Given the description of an element on the screen output the (x, y) to click on. 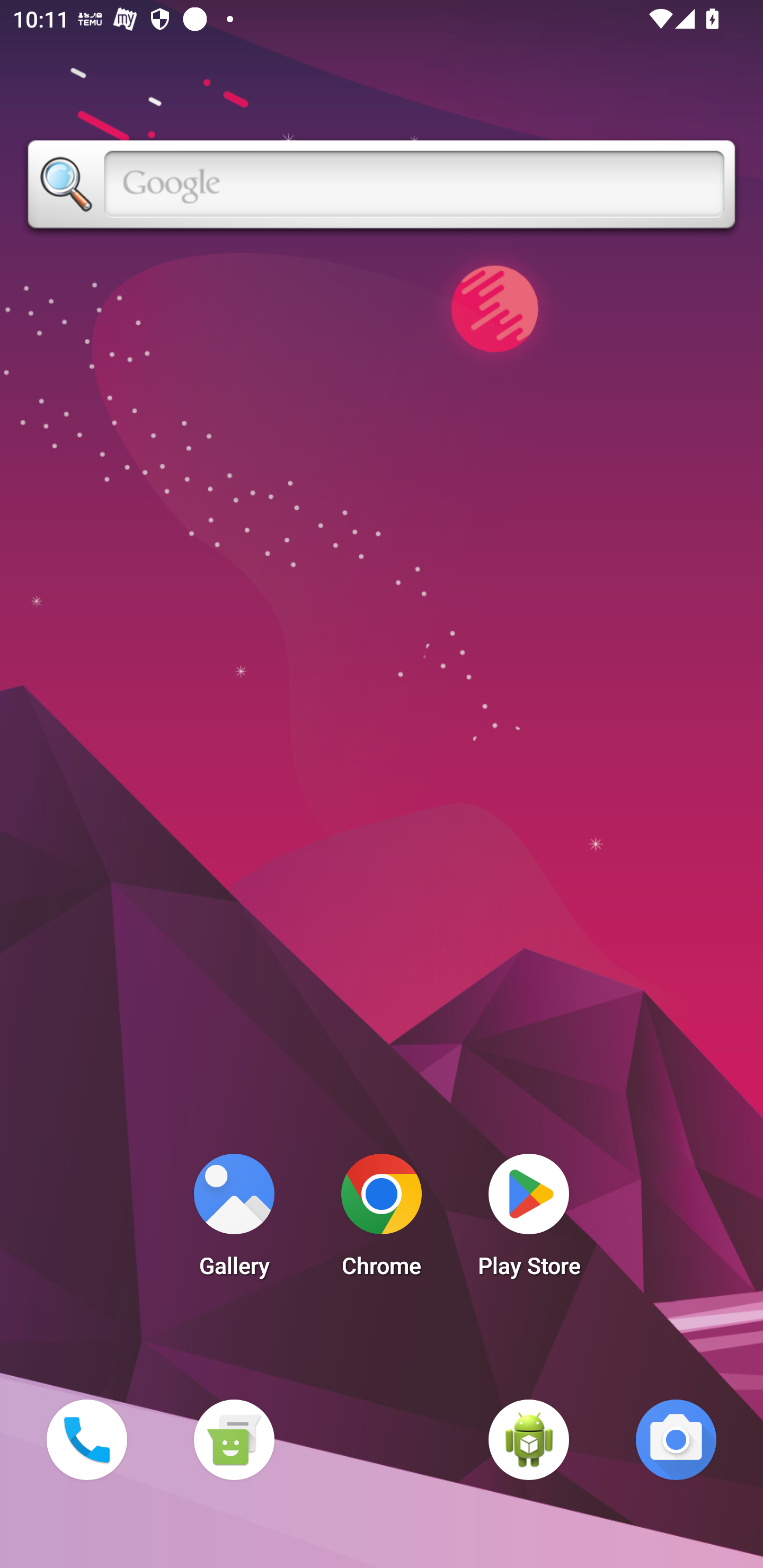
Gallery (233, 1220)
Chrome (381, 1220)
Play Store (528, 1220)
Phone (86, 1439)
Messaging (233, 1439)
WebView Browser Tester (528, 1439)
Camera (676, 1439)
